Given the description of an element on the screen output the (x, y) to click on. 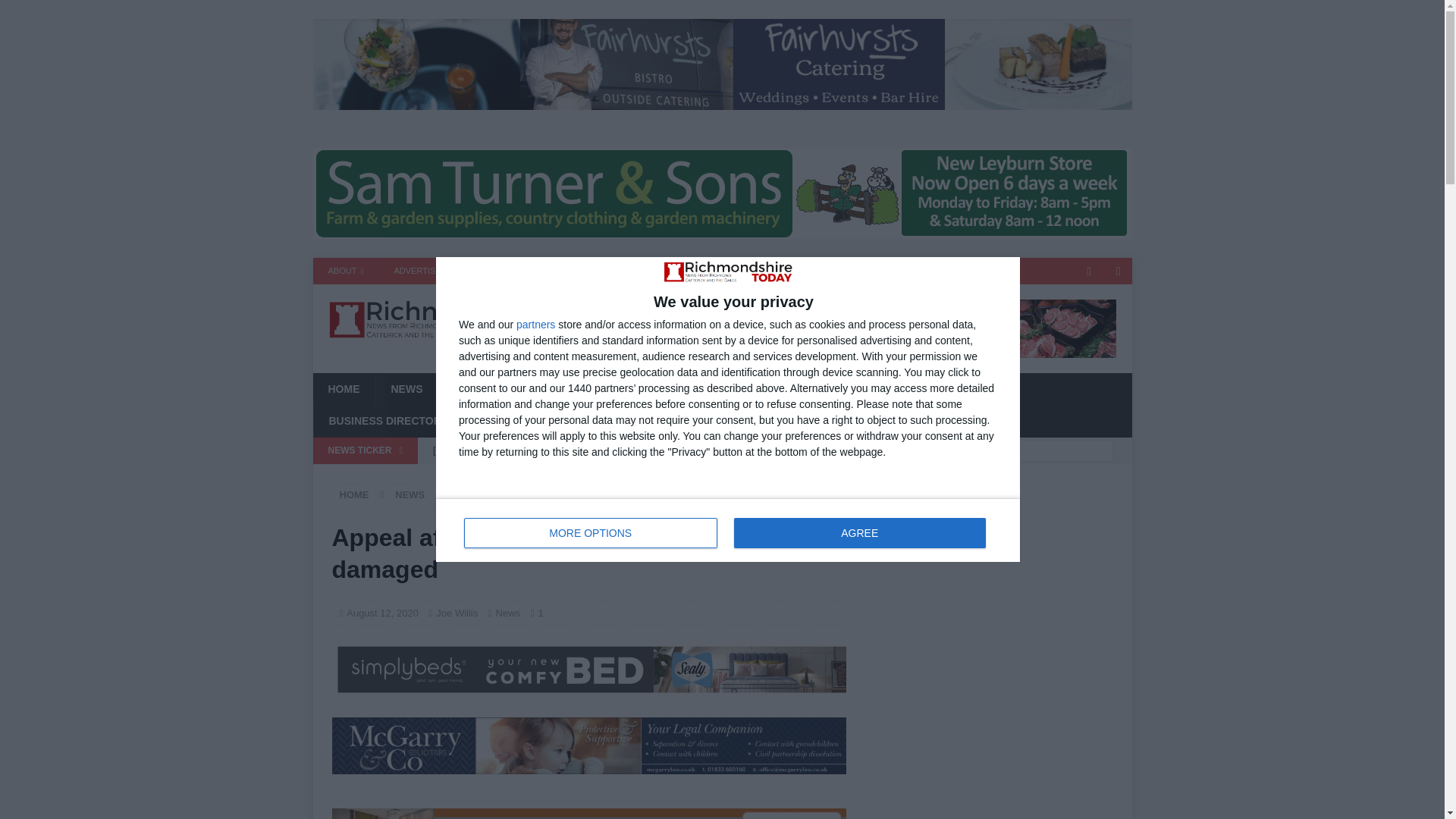
ADVERTISE (416, 270)
Exhibition features work by Yorkshire female artists (634, 475)
MAGAZINE (566, 270)
MORE OPTIONS (590, 532)
AGREE (859, 532)
CONTACT (491, 270)
ABOUT (727, 529)
partners (345, 270)
